Given the description of an element on the screen output the (x, y) to click on. 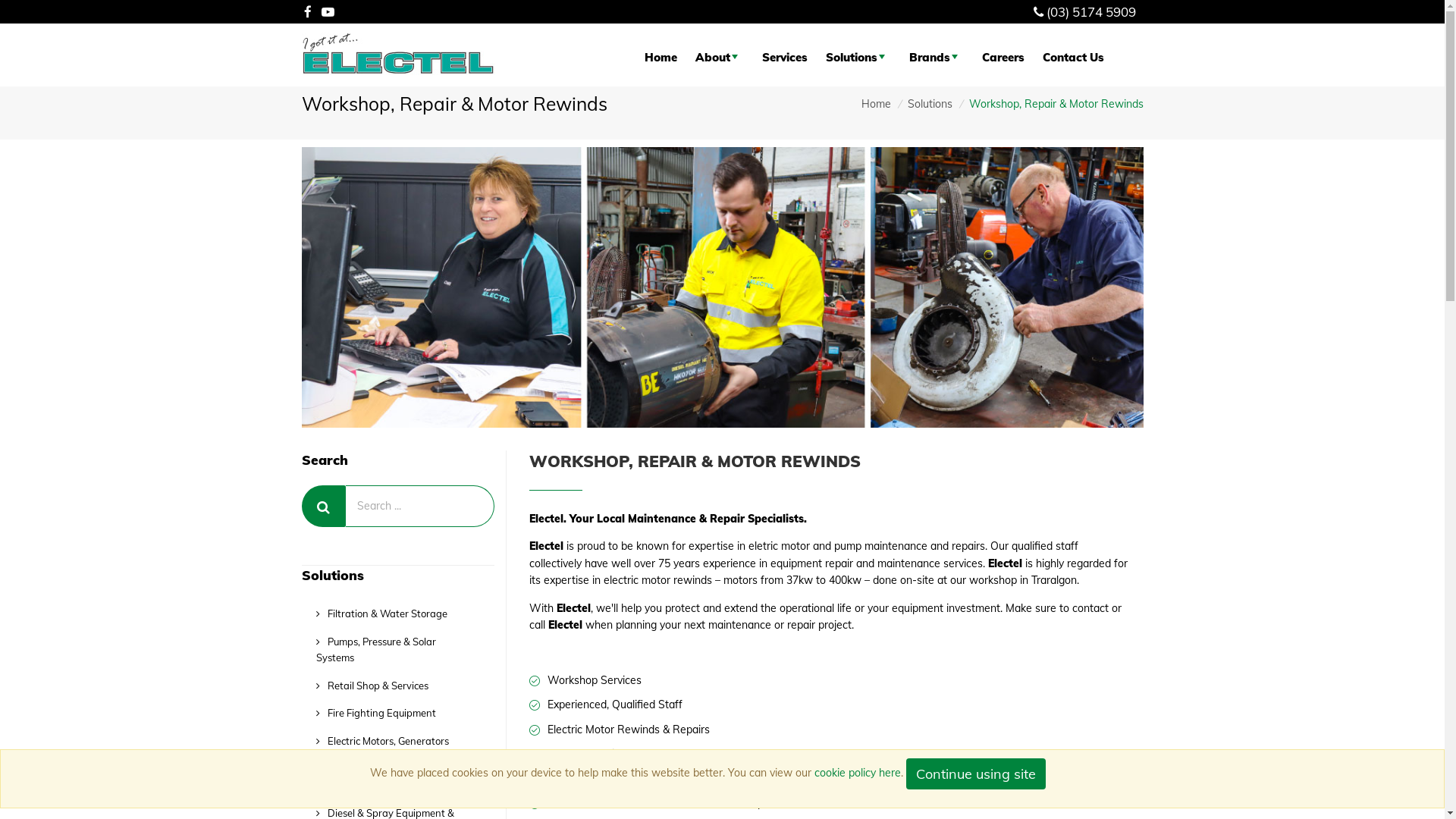
Pumps, Pressure & Solar Systems Element type: text (390, 649)
(03) 5174 5909 Element type: text (1090, 11)
Careers Element type: text (1002, 57)
Services Element type: text (784, 57)
Solutions Element type: text (858, 57)
Home Element type: text (660, 57)
Fire Fighting Equipment Element type: text (390, 713)
Solutions Element type: text (929, 103)
Contact Us Element type: text (1073, 57)
Pressure Cleaners & Services Element type: text (390, 785)
Continue using site Element type: text (975, 773)
cookie policy here Element type: text (857, 772)
Electric Motors, Generators Sales & Services Element type: text (390, 749)
Home Element type: text (876, 103)
Retail Shop & Services Element type: text (390, 685)
Brands Element type: text (936, 57)
About Element type: text (719, 57)
Filtration & Water Storage Element type: text (390, 613)
